Given the description of an element on the screen output the (x, y) to click on. 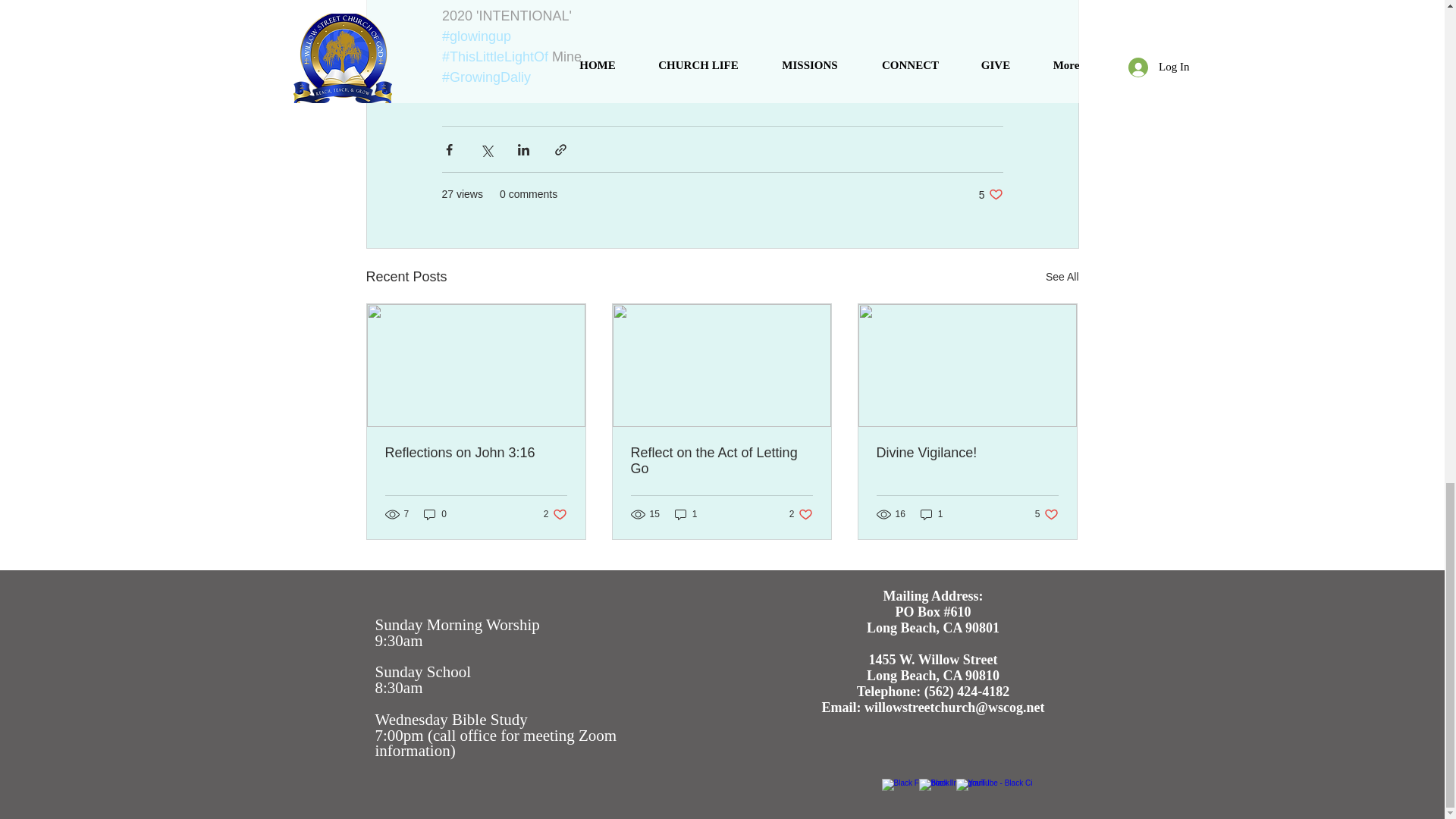
0 (435, 513)
Reflect on the Act of Letting Go (721, 460)
Divine Vigilance! (555, 513)
1 (967, 453)
Reflections on John 3:16 (800, 513)
See All (685, 513)
